Given the description of an element on the screen output the (x, y) to click on. 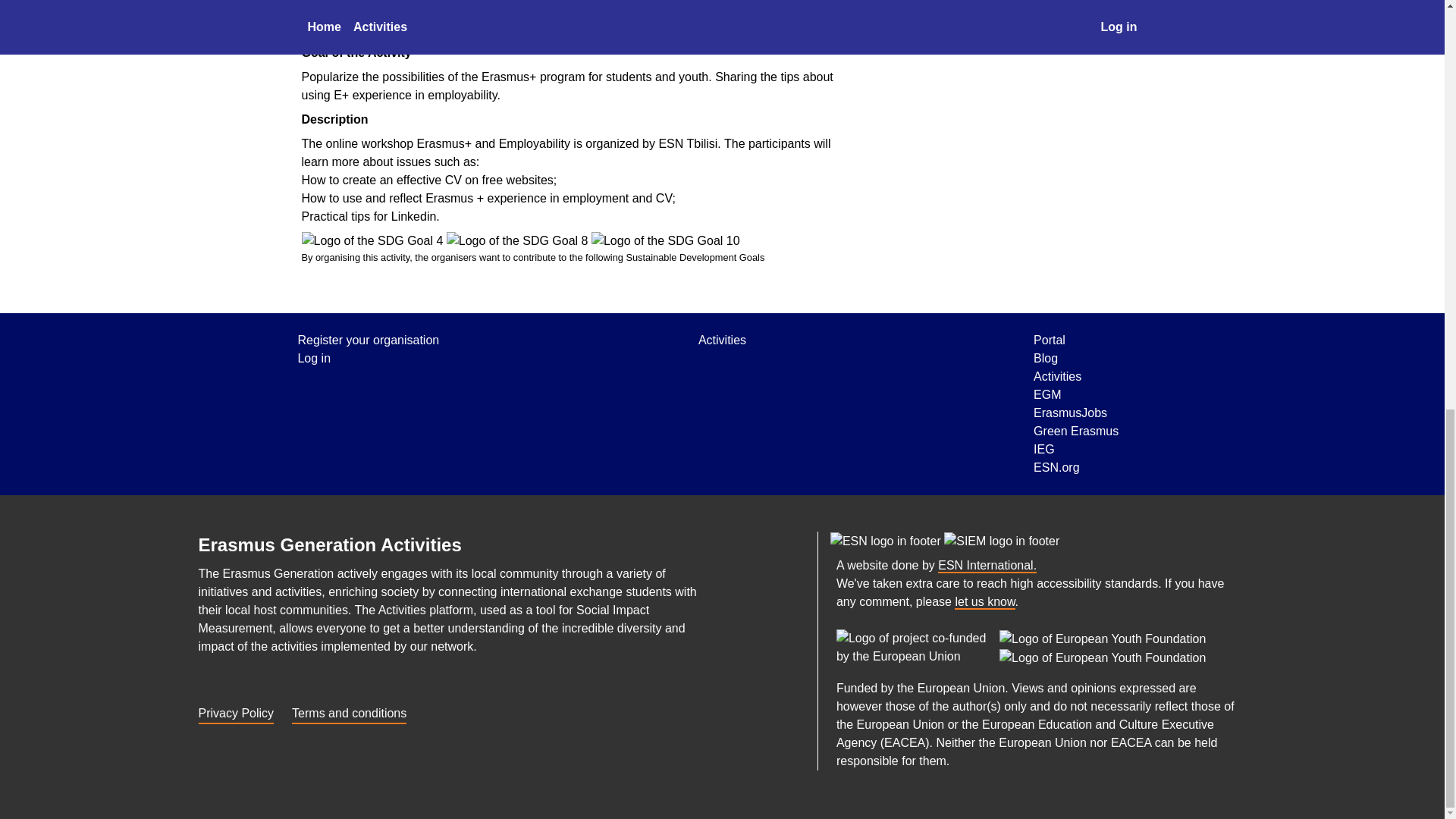
Online Workshop (416, 15)
Log in (368, 358)
Goal 4: Quality Education (372, 240)
SIEM-project website (1001, 540)
EGM (1075, 394)
Green Erasmus (1075, 431)
Goal 10: Reduced Inequalities (665, 240)
Privacy Policy (236, 710)
ESN.org (886, 540)
ESN.org (986, 565)
IEG (1075, 449)
ESN Tbilisi ISU (918, 38)
Terms and conditions (349, 710)
ESN.org (1075, 467)
contact us (984, 602)
